Given the description of an element on the screen output the (x, y) to click on. 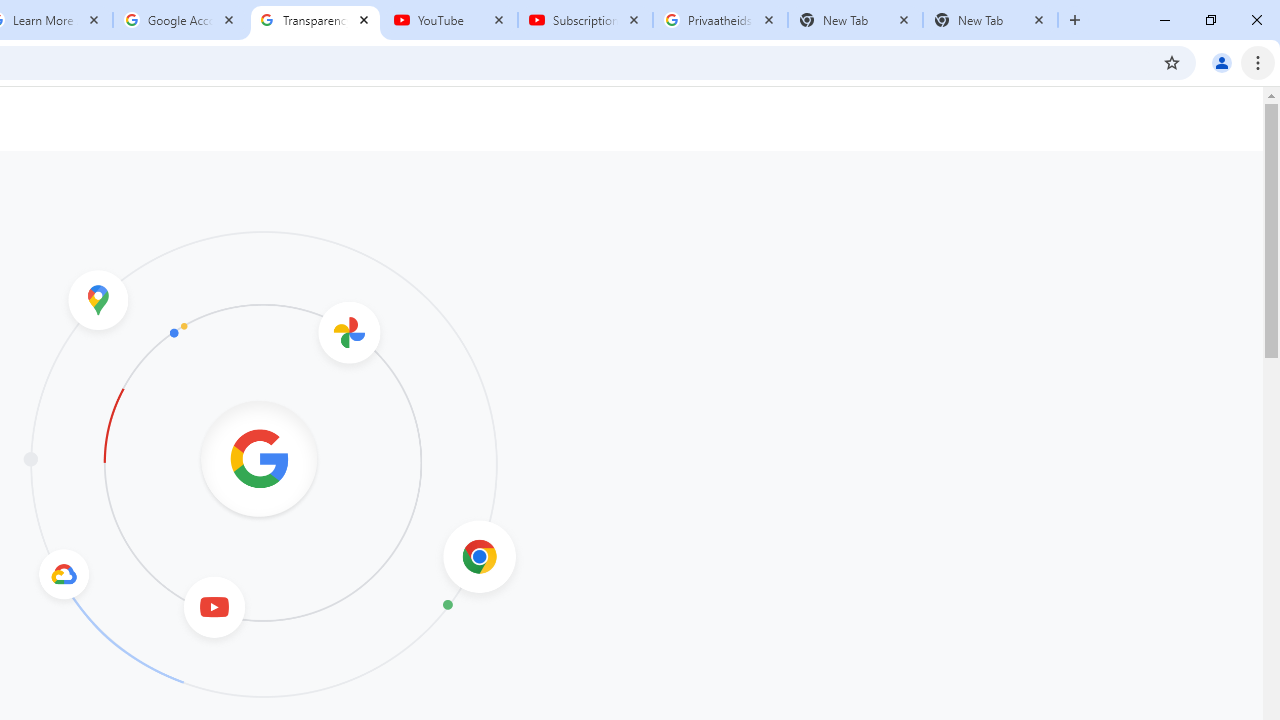
5 more tabs (861, 281)
Sign in (875, 32)
